Given the description of an element on the screen output the (x, y) to click on. 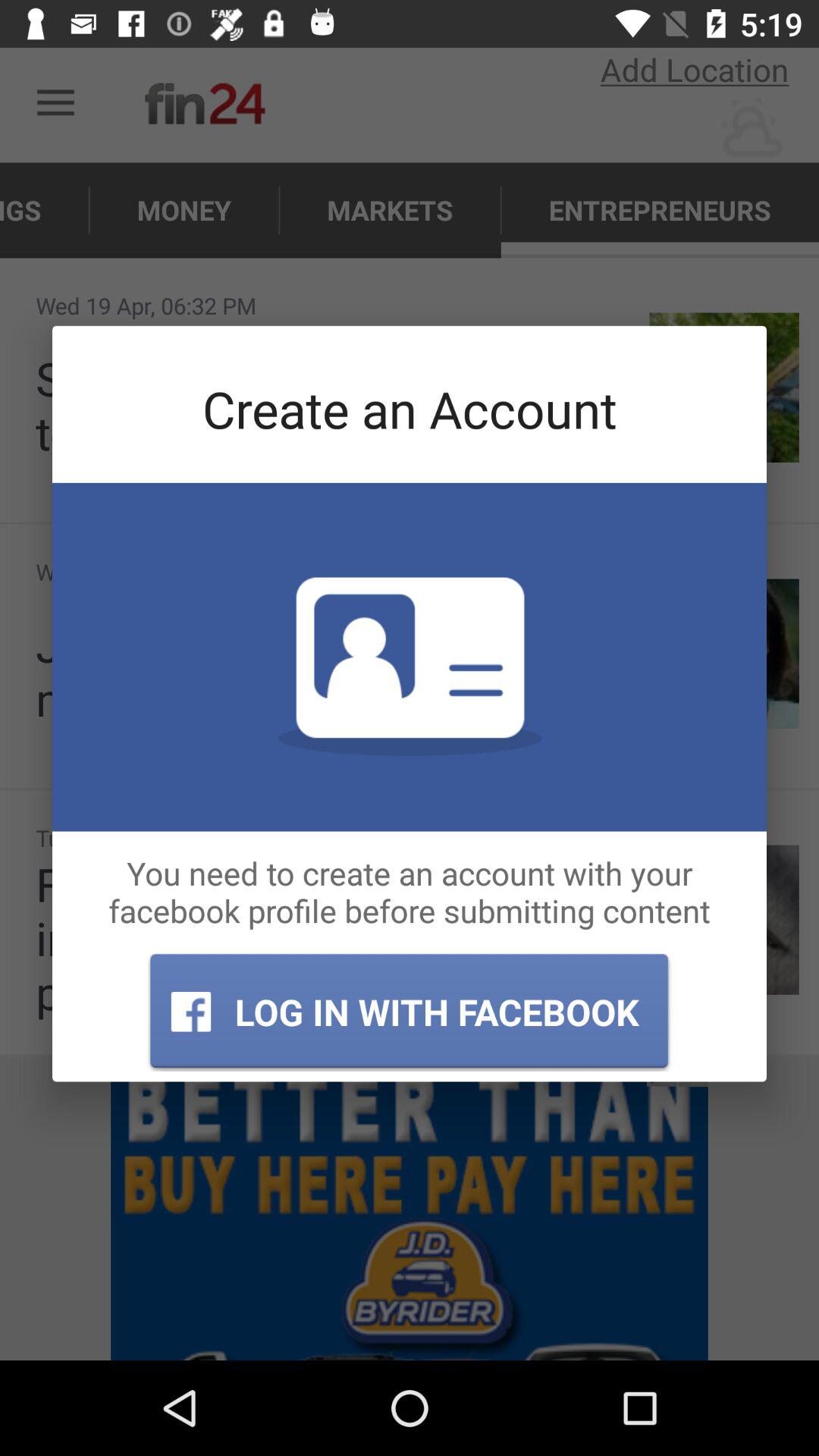
choose log in with icon (409, 1011)
